Given the description of an element on the screen output the (x, y) to click on. 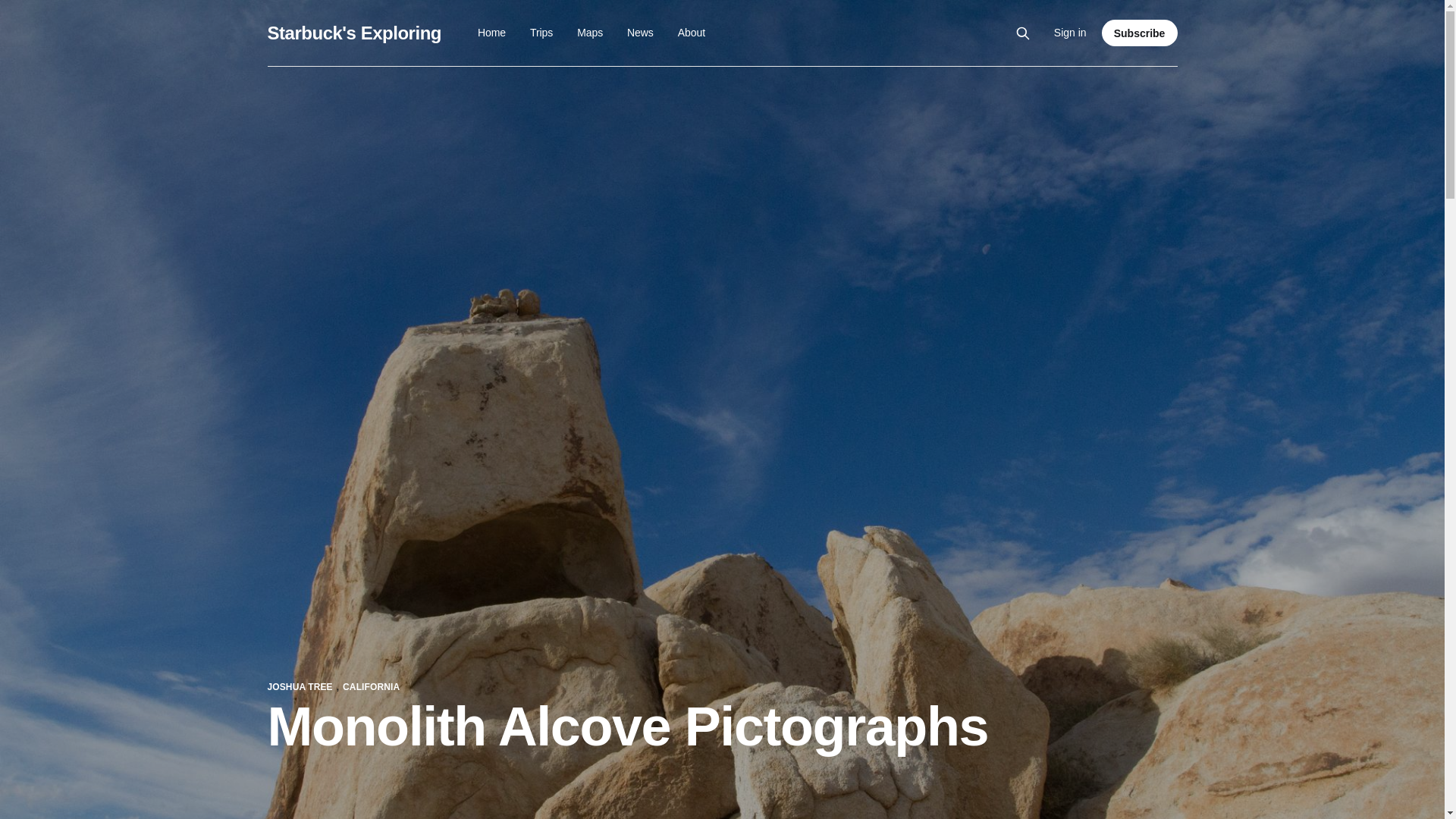
Maps (589, 32)
CALIFORNIA (370, 686)
Subscribe (1139, 32)
About (691, 32)
Starbuck's Exploring (353, 33)
Sign in (1070, 32)
Home (491, 32)
JOSHUA TREE (298, 686)
Trips (541, 32)
News (640, 32)
